Given the description of an element on the screen output the (x, y) to click on. 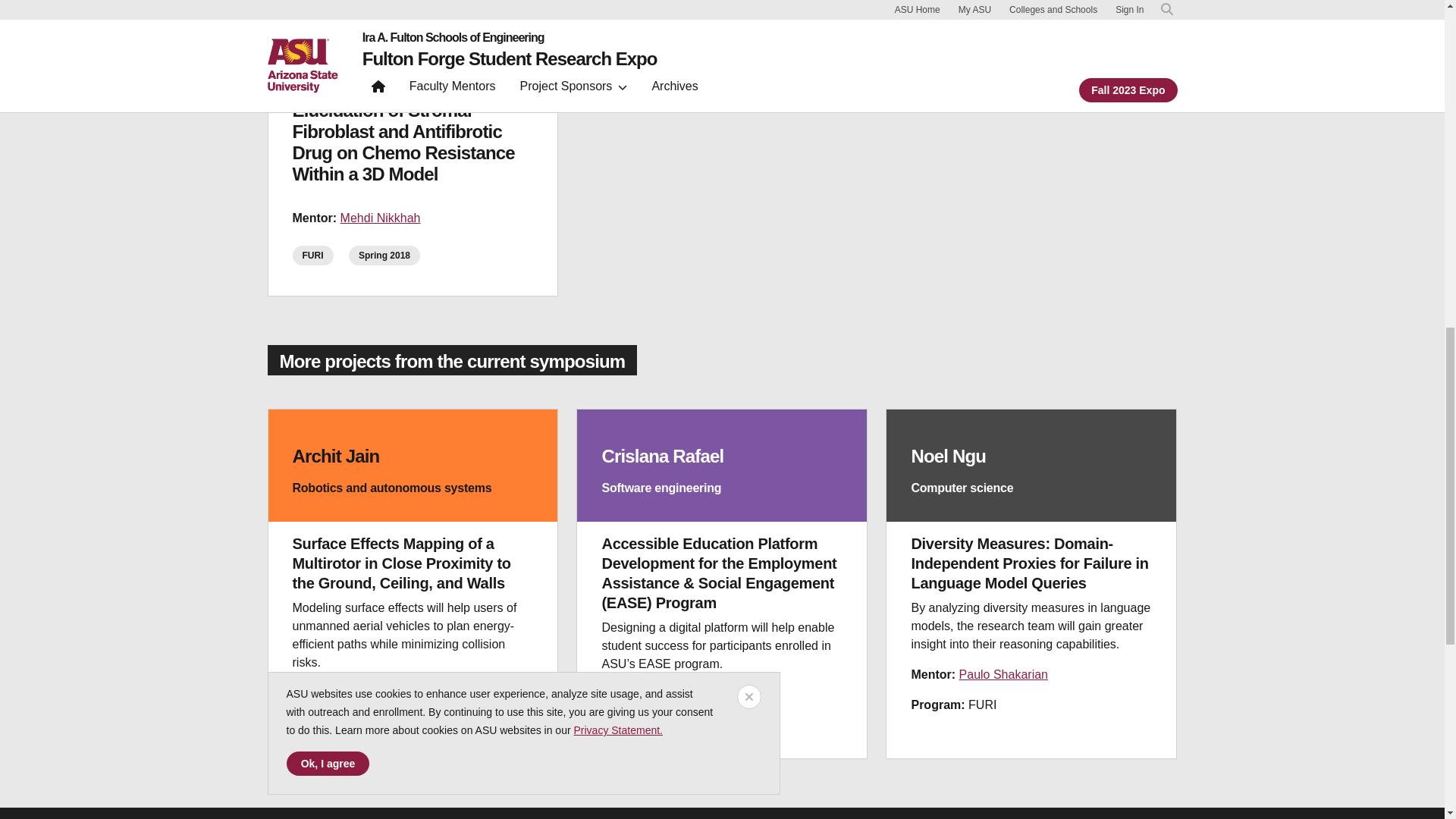
Wenlong Zhang (383, 692)
Paulo Shakarian (1003, 674)
Mehdi Nikkhah (380, 217)
Deana Delp (681, 694)
